Given the description of an element on the screen output the (x, y) to click on. 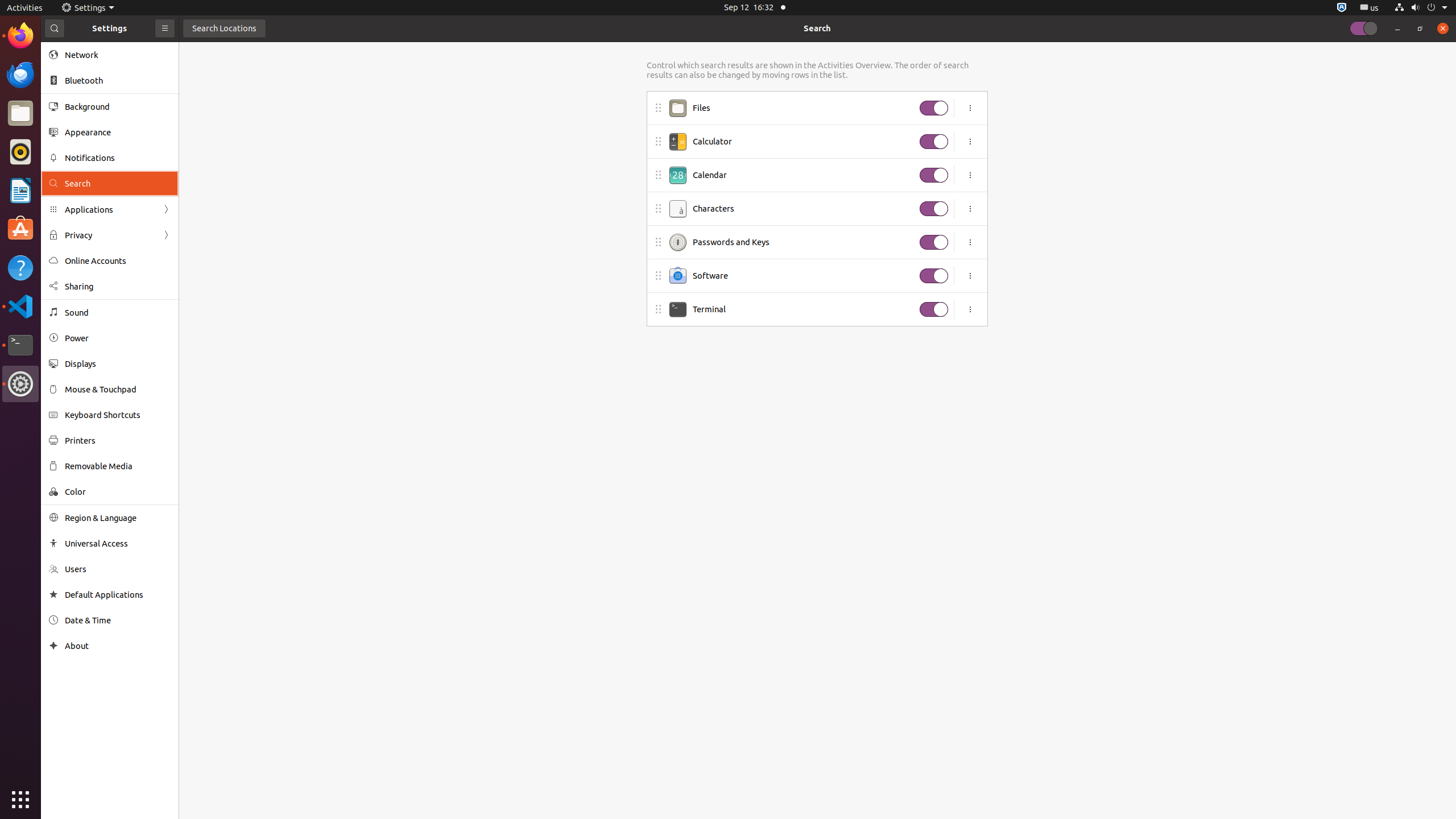
Online Accounts Element type: label (117, 260)
Restore Element type: push-button (1419, 27)
IsaHelpMain.desktop Element type: label (75, 170)
